Given the description of an element on the screen output the (x, y) to click on. 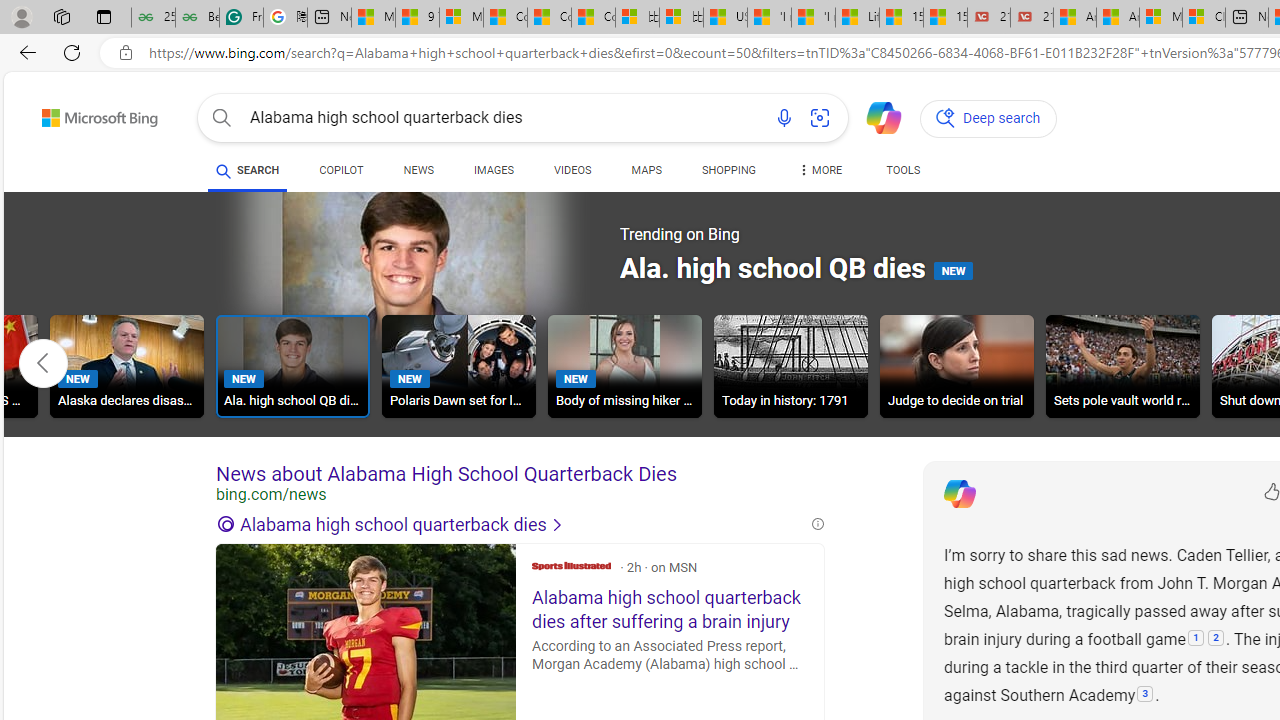
Today in history: 1791 (790, 369)
